Given the description of an element on the screen output the (x, y) to click on. 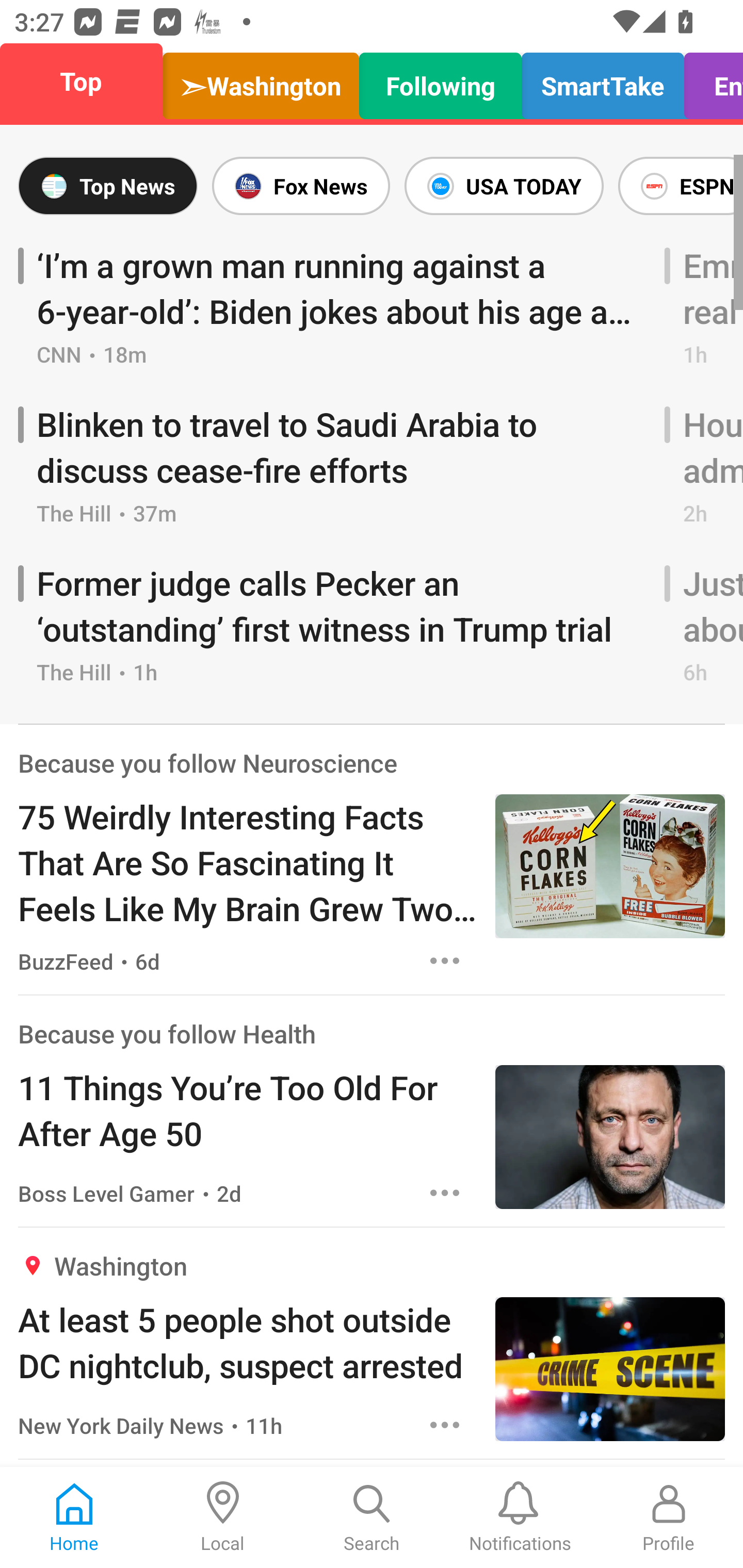
Top (86, 81)
➣Washington (260, 81)
Following (440, 81)
SmartTake (602, 81)
Fox News (301, 185)
USA TODAY (503, 185)
ESPN (676, 185)
Because you follow Neuroscience (207, 762)
Options (444, 961)
Because you follow Health (166, 1033)
Options (444, 1193)
Options (444, 1425)
Local (222, 1517)
Search (371, 1517)
Notifications (519, 1517)
Profile (668, 1517)
